Given the description of an element on the screen output the (x, y) to click on. 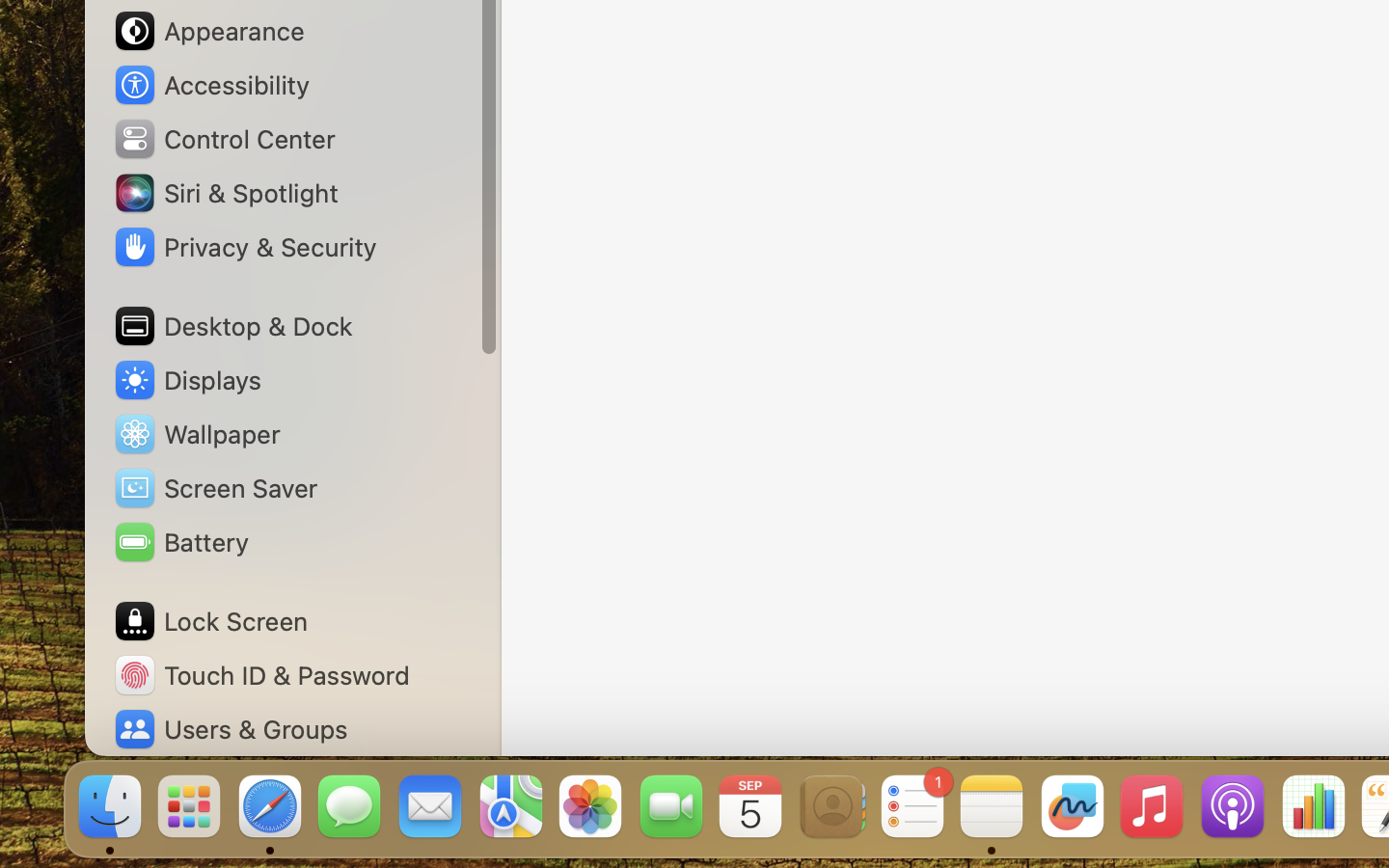
Control Center Element type: AXStaticText (223, 138)
Touch ID & Password Element type: AXStaticText (260, 674)
Wallpaper Element type: AXStaticText (195, 433)
Displays Element type: AXStaticText (186, 379)
Battery Element type: AXStaticText (179, 541)
